Given the description of an element on the screen output the (x, y) to click on. 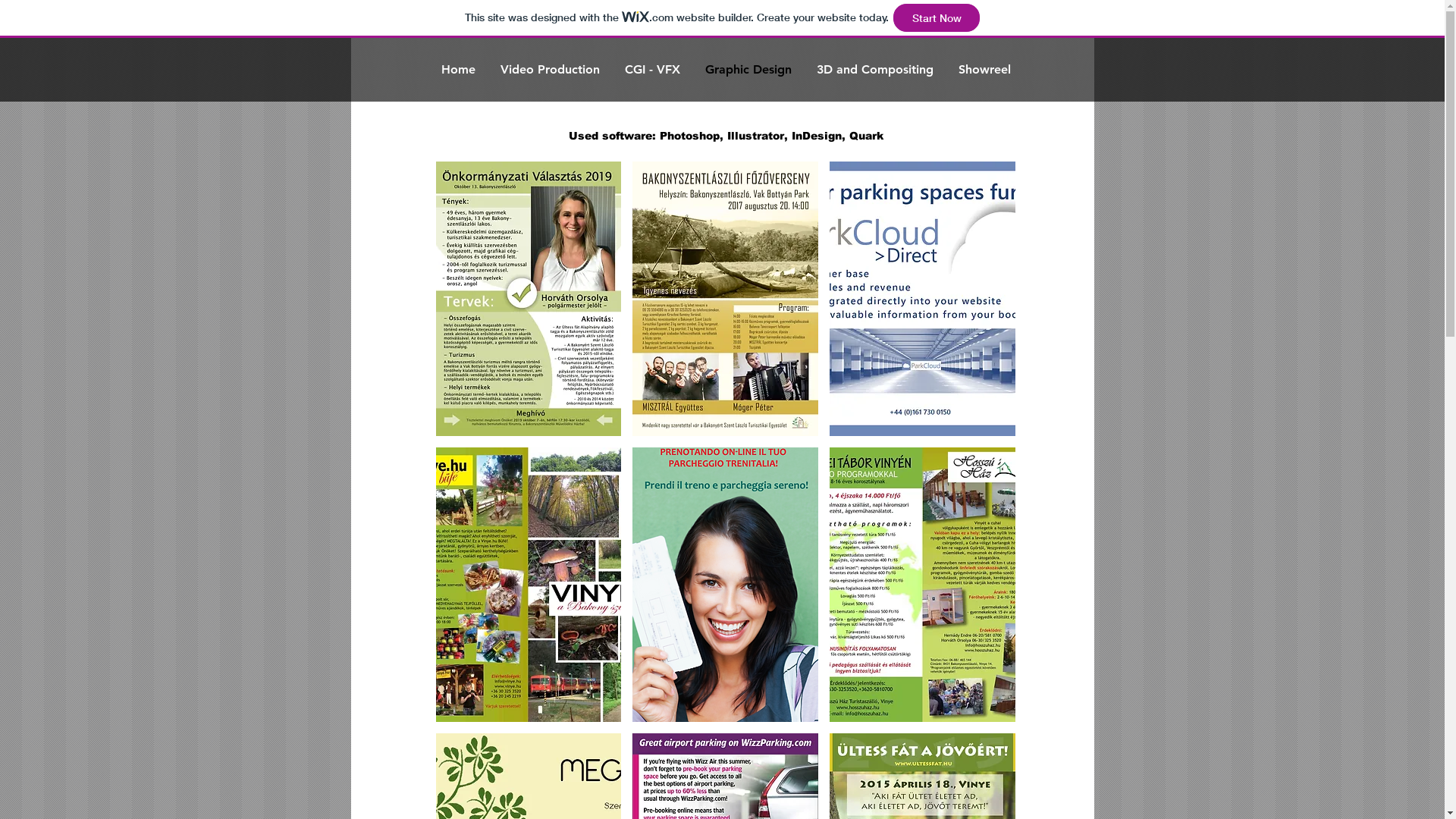
CGI - VFX Element type: text (652, 69)
Home Element type: text (458, 69)
Showreel Element type: text (984, 69)
Graphic Design Element type: text (748, 69)
3D and Compositing Element type: text (874, 69)
Video Production Element type: text (550, 69)
